Given the description of an element on the screen output the (x, y) to click on. 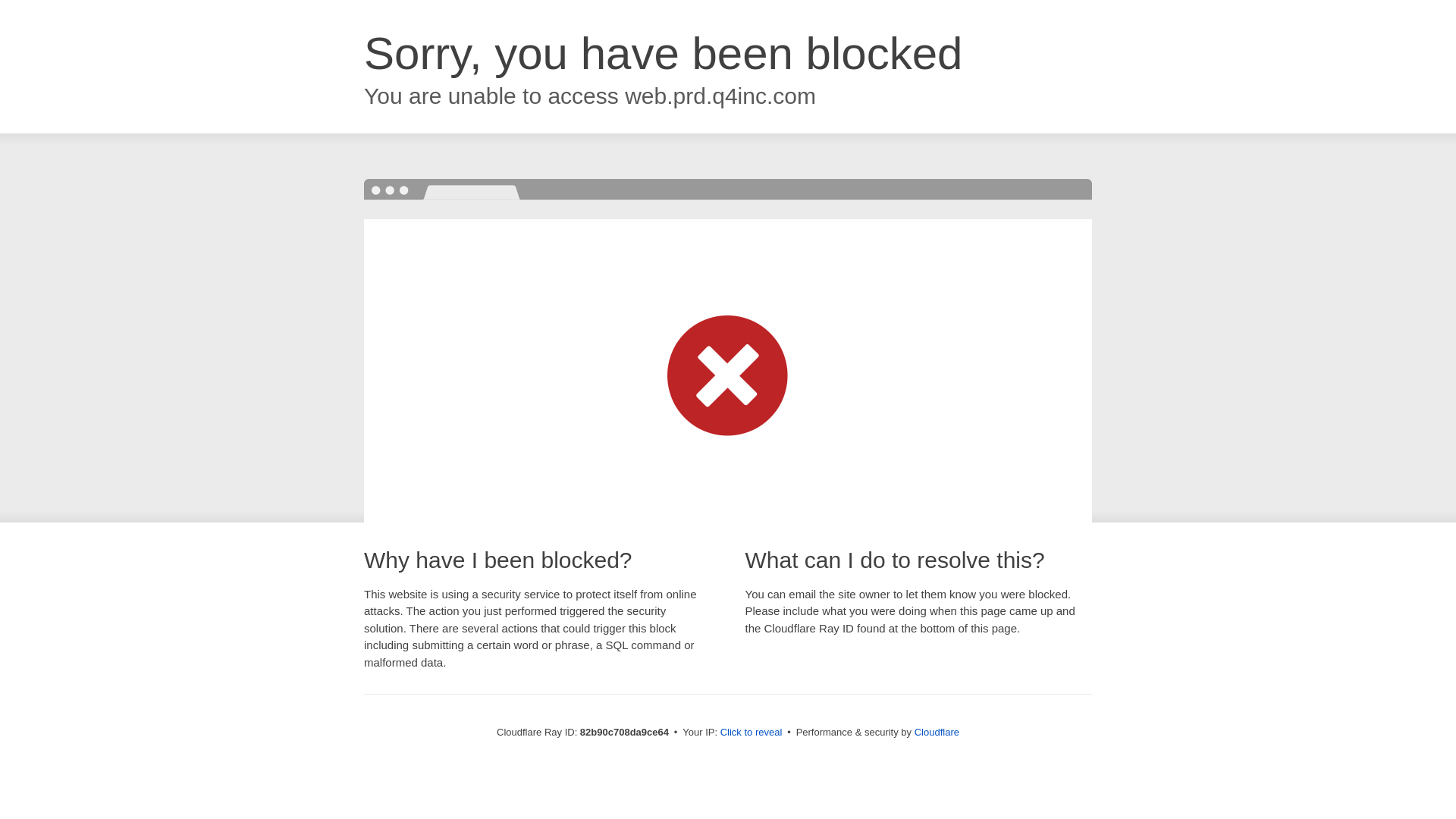
Click to reveal Element type: text (751, 732)
Cloudflare Element type: text (936, 731)
